Given the description of an element on the screen output the (x, y) to click on. 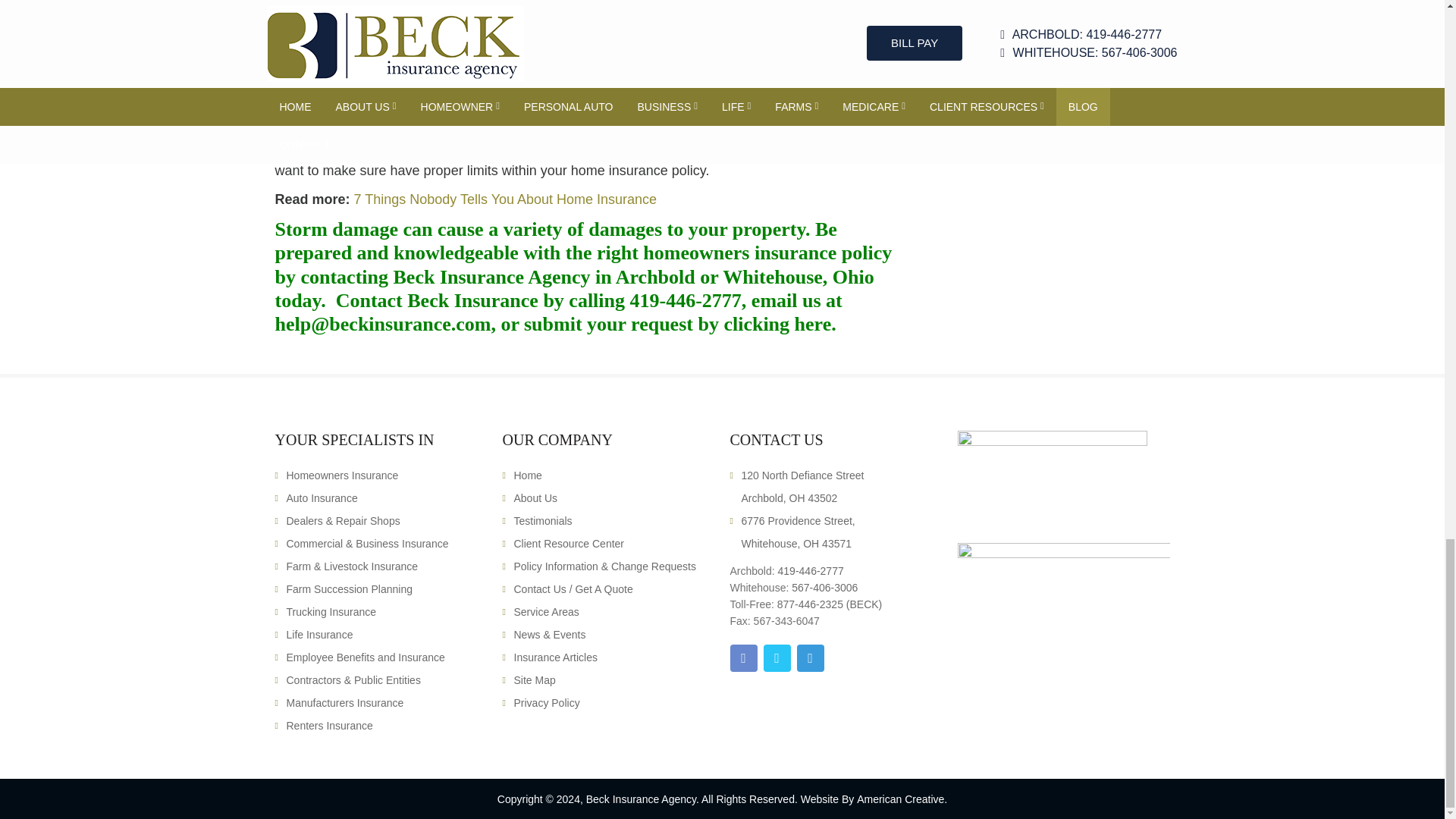
LinkedIn (810, 657)
Twitter (776, 657)
7 Things Nobody Tells You About Home Insurance (505, 199)
Facebook (743, 657)
submit your request by clicking here. (679, 323)
